Given the description of an element on the screen output the (x, y) to click on. 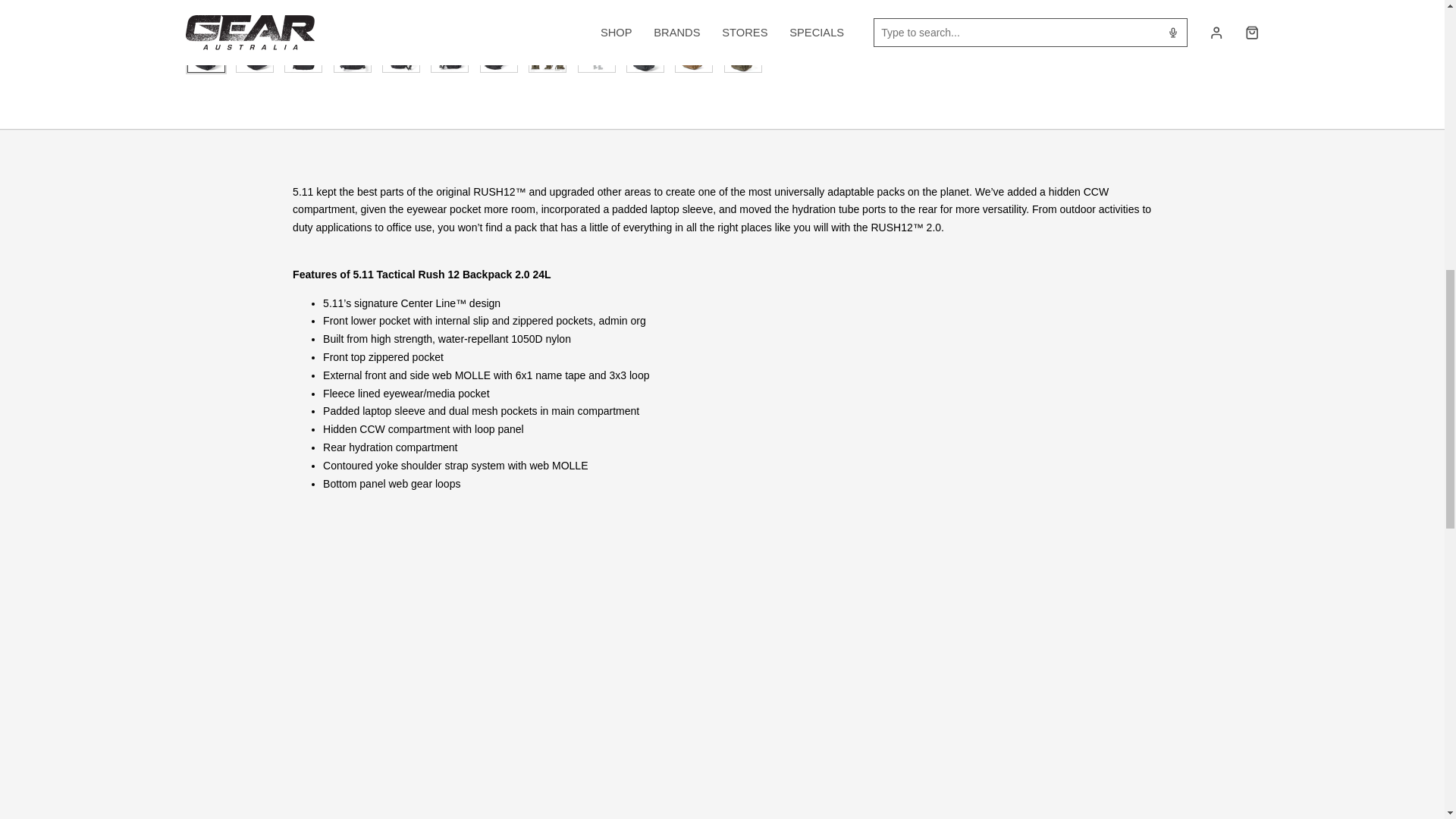
YouTube video player (504, 640)
